Given the description of an element on the screen output the (x, y) to click on. 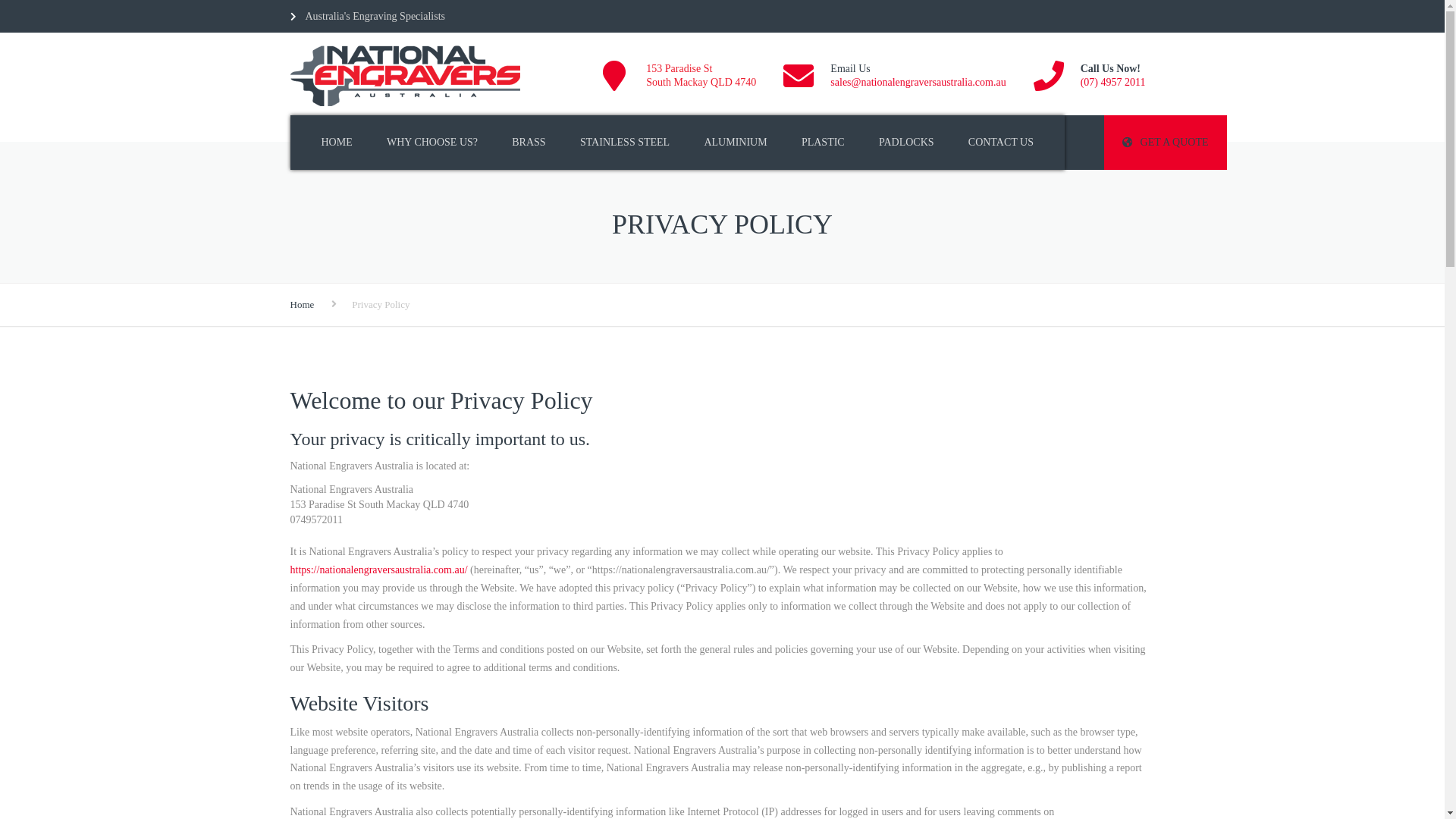
PADLOCKS Element type: text (906, 142)
CONTACT US Element type: text (1000, 142)
sales@nationalengraversaustralia.com.au Element type: text (917, 81)
WHY CHOOSE US? Element type: text (431, 142)
STAINLESS STEEL Element type: text (624, 142)
HOME Element type: text (335, 142)
ALUMINIUM Element type: text (734, 142)
(07) 4957 2011 Element type: text (1112, 81)
BRASS Element type: text (528, 142)
https://nationalengraversaustralia.com.au/ Element type: text (378, 569)
Home Element type: text (301, 304)
GET A QUOTE Element type: text (1165, 142)
PLASTIC Element type: text (822, 142)
